Given the description of an element on the screen output the (x, y) to click on. 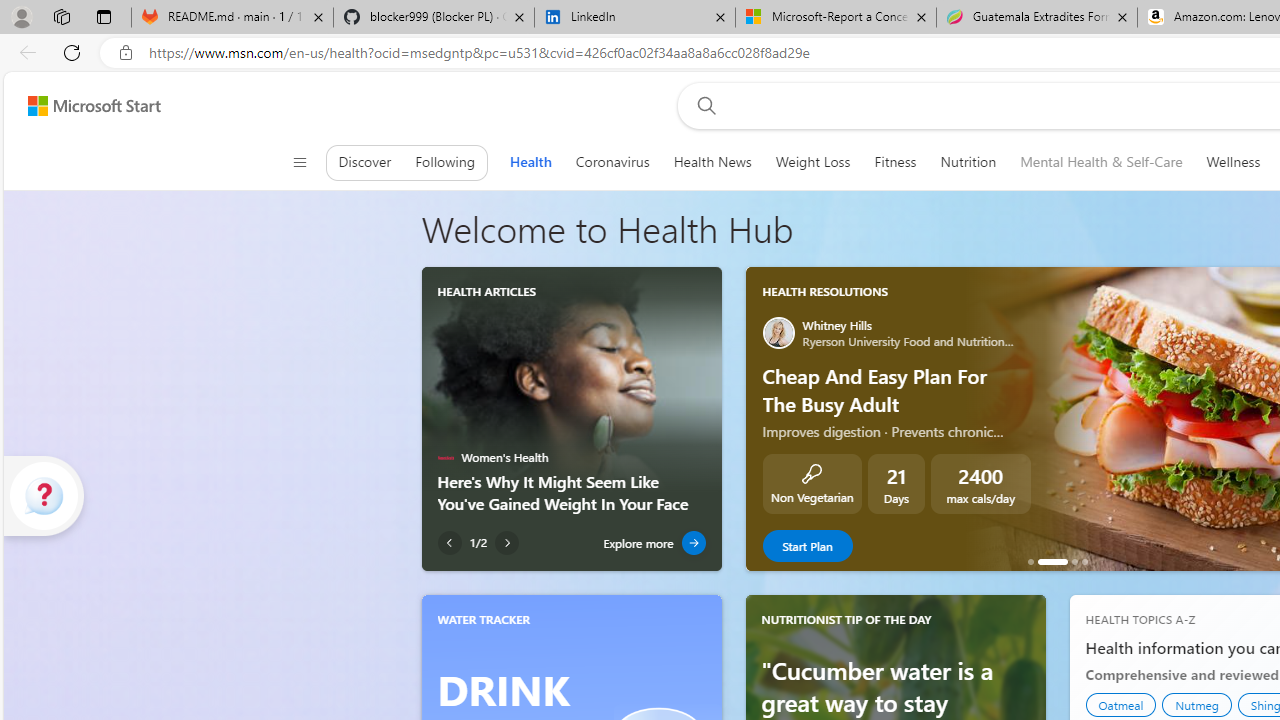
Fitness (895, 161)
Vegetarian Low Calorie Meal Plan (1074, 561)
Nutrition (968, 161)
Health News (711, 161)
Previous Article (449, 543)
HEALTH ARTICLES (486, 291)
Cheap And Easy Plan For The Busy Adult (1051, 561)
